Given the description of an element on the screen output the (x, y) to click on. 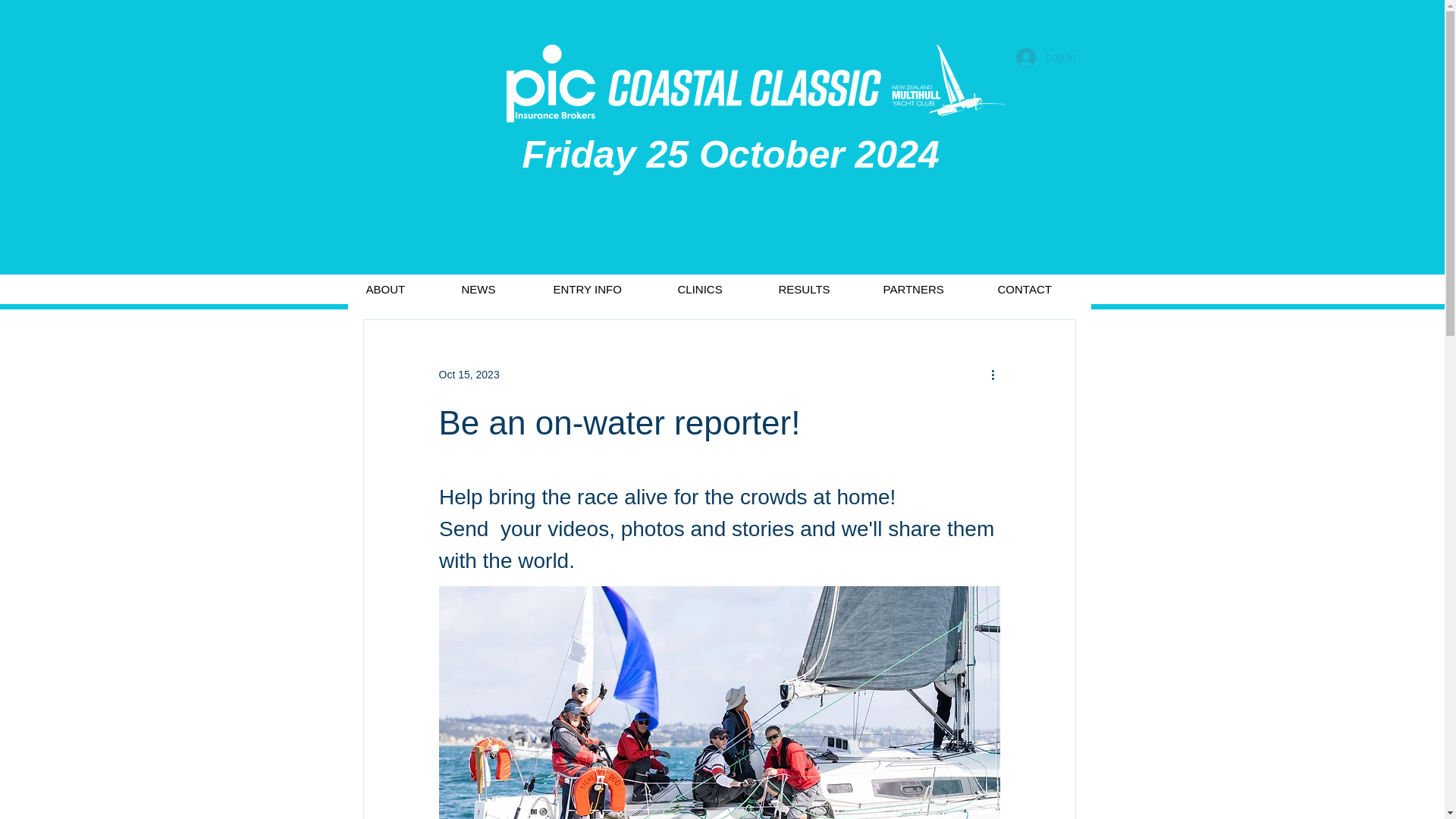
PIC CC 40TH RACE LOGO WHITE.png (755, 83)
ENTRY INFO (600, 288)
Oct 15, 2023 (468, 374)
Log In (1046, 57)
CLINICS (712, 288)
PARTNERS (924, 288)
ABOUT (397, 288)
CONTACT (1037, 288)
NEWS (491, 288)
